Given the description of an element on the screen output the (x, y) to click on. 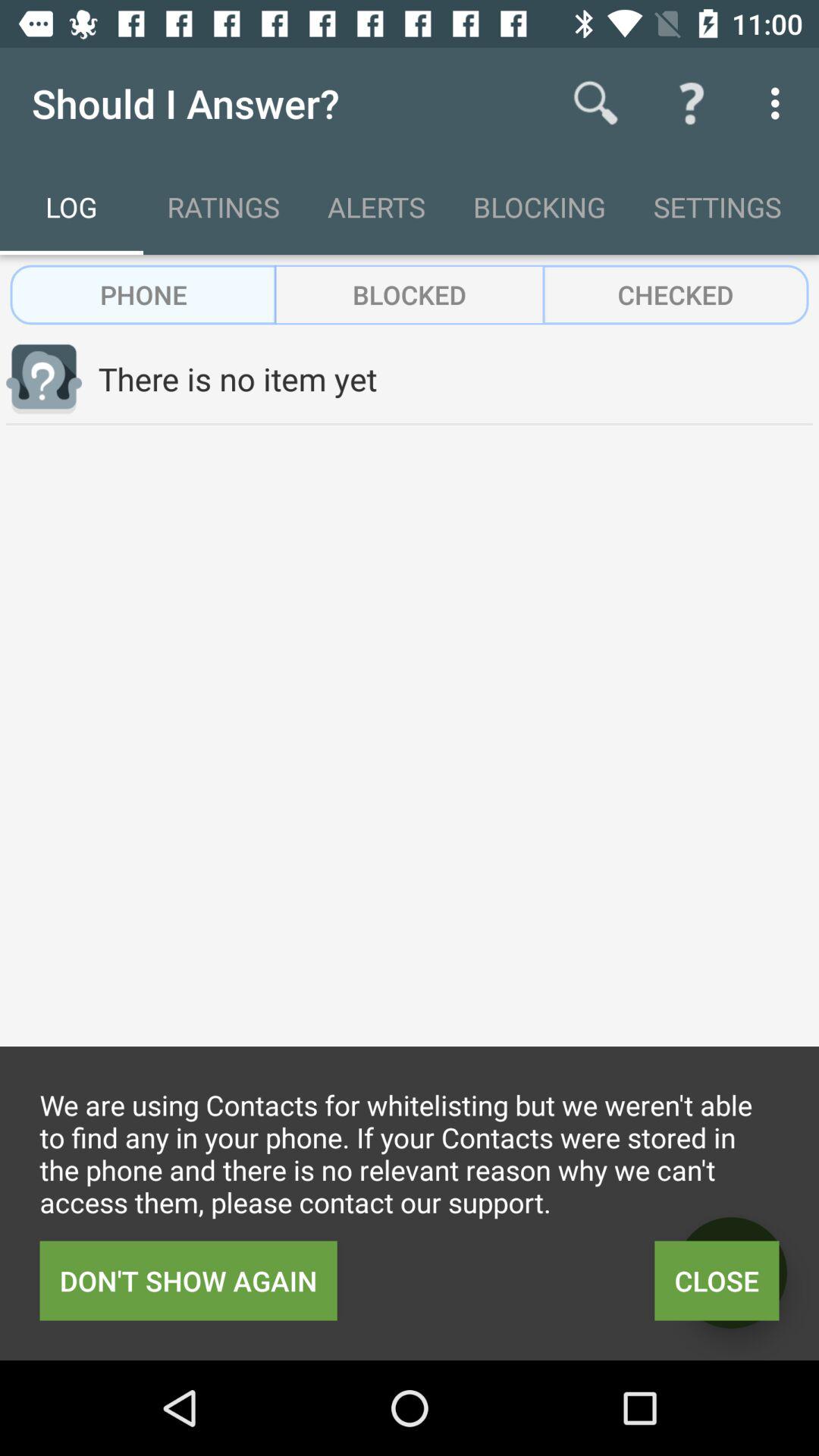
click item below the we are using item (716, 1280)
